Given the description of an element on the screen output the (x, y) to click on. 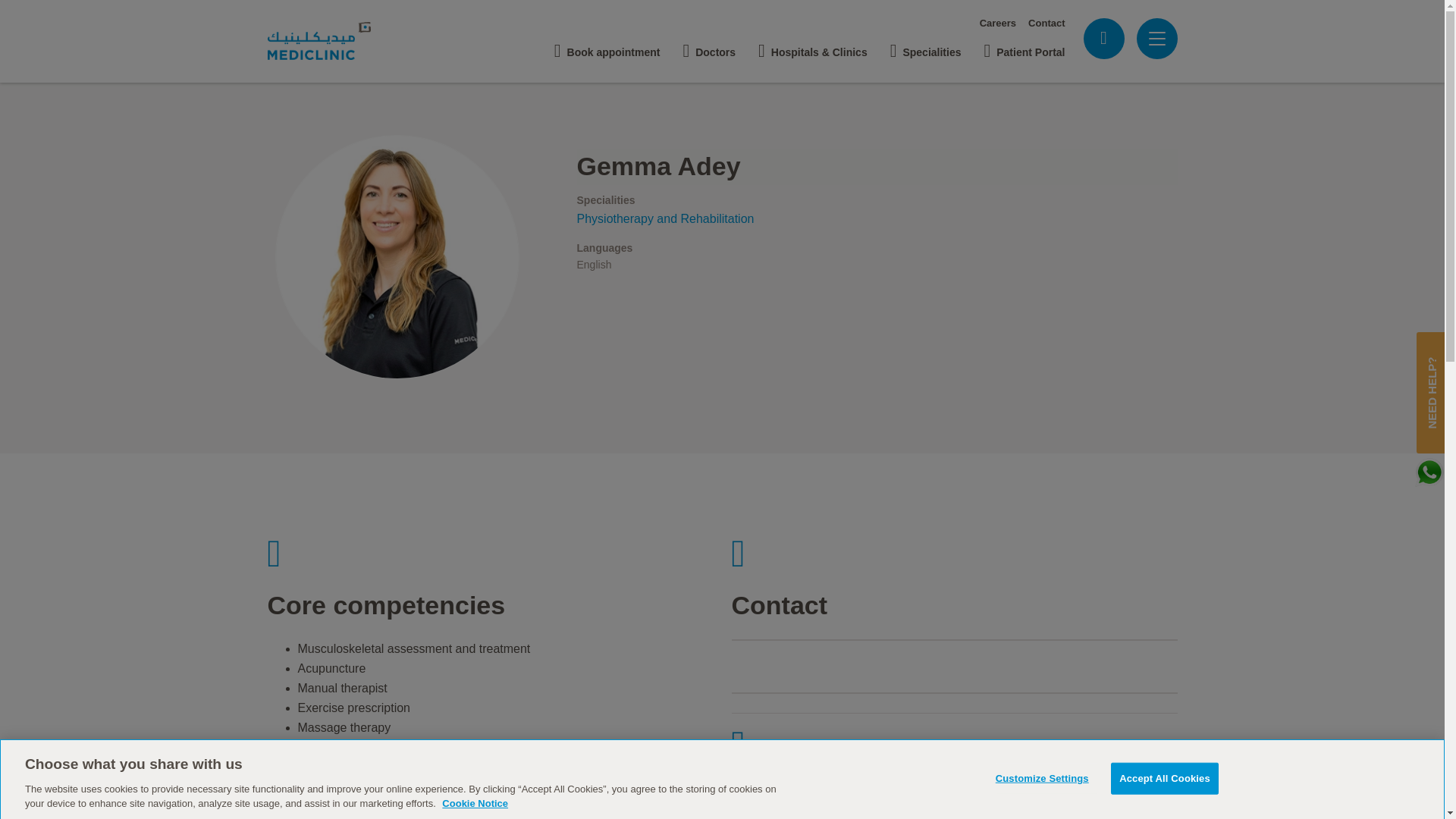
Specialities (924, 45)
Doctors (708, 45)
Menu (1155, 38)
Book appointment (607, 45)
Patient Portal (1024, 45)
Careers (997, 22)
Contact (1045, 22)
Mediclinic Logo (331, 40)
